Given the description of an element on the screen output the (x, y) to click on. 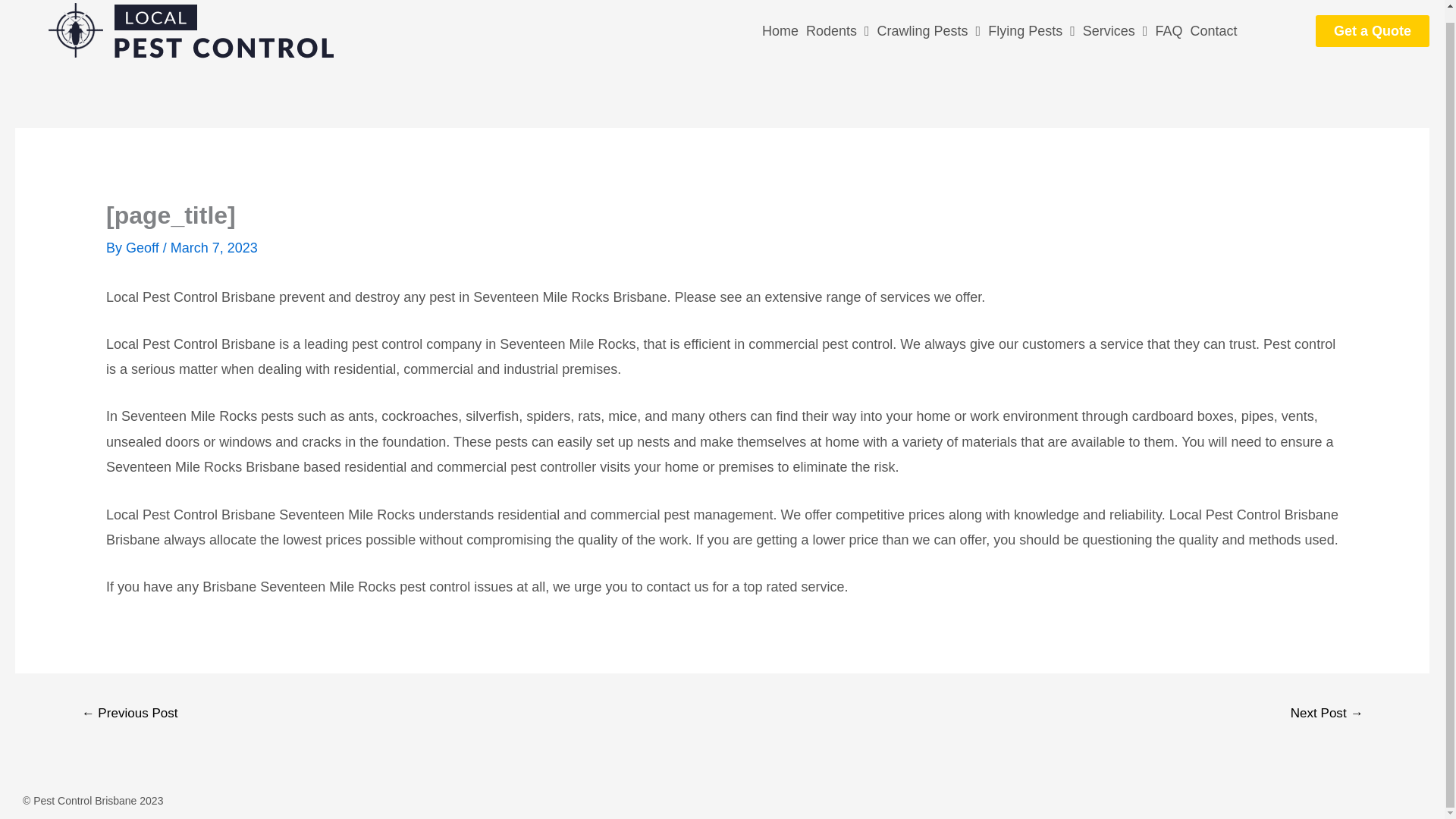
Home (780, 30)
Contact (1213, 30)
FAQ (1168, 30)
Flying Pests (1031, 30)
Crawling Pests (929, 30)
View all posts by Geoff (144, 246)
Rodents (837, 30)
Services (1114, 30)
